Given the description of an element on the screen output the (x, y) to click on. 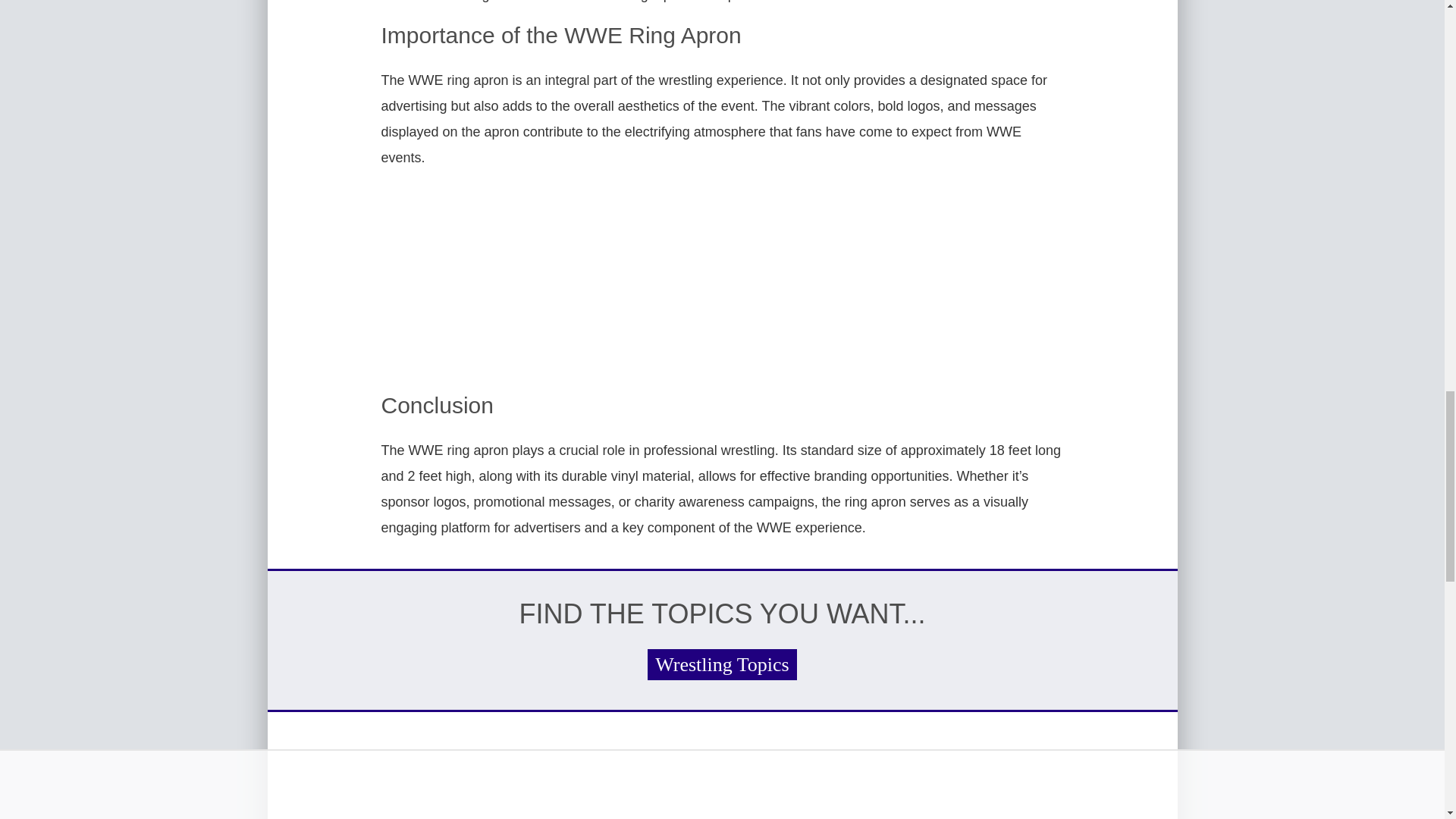
View all posts in Wrestling Topics (721, 664)
